Given the description of an element on the screen output the (x, y) to click on. 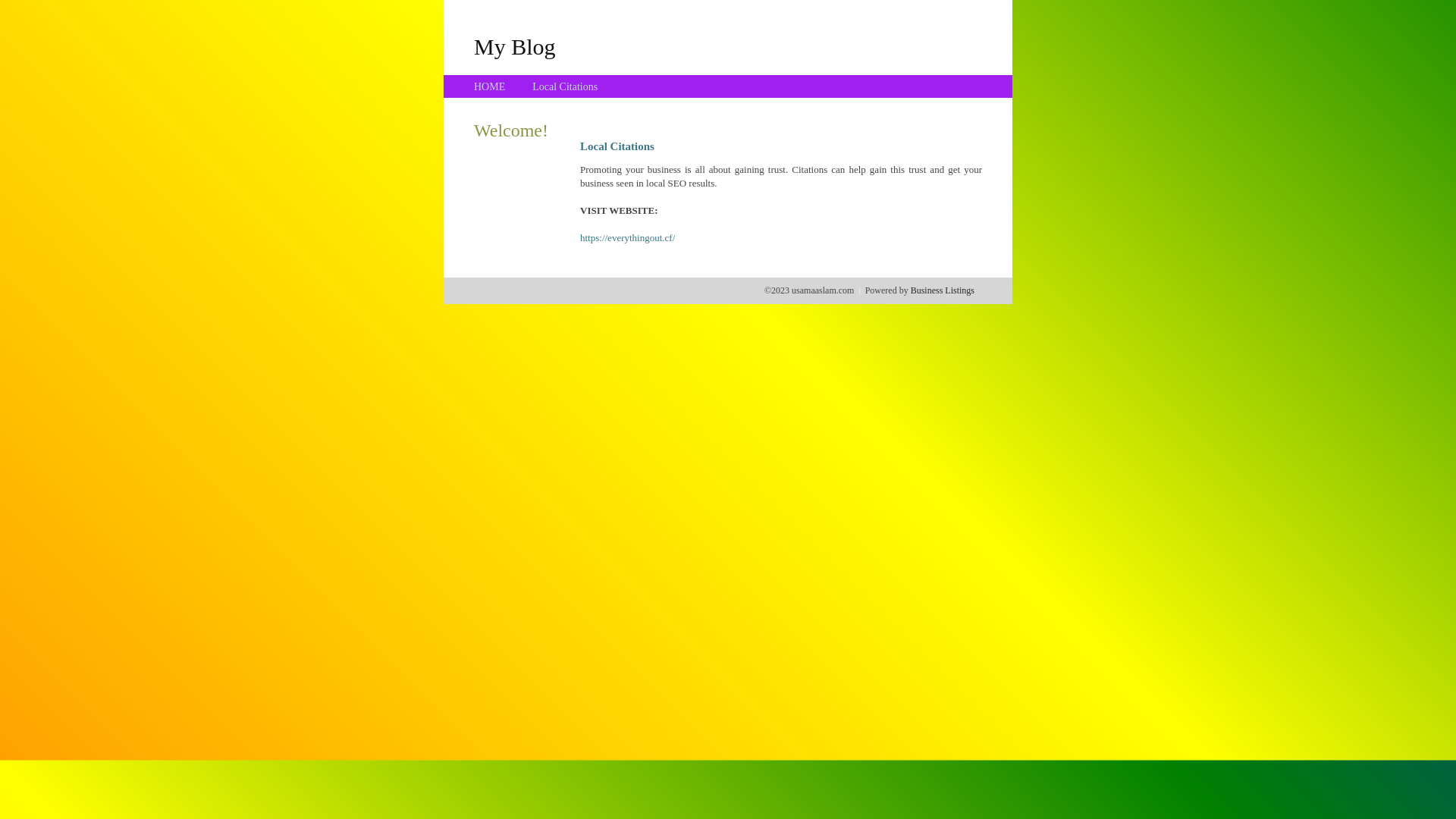
https://everythingout.cf/ Element type: text (627, 237)
My Blog Element type: text (514, 46)
HOME Element type: text (489, 86)
Business Listings Element type: text (942, 290)
Local Citations Element type: text (564, 86)
